Given the description of an element on the screen output the (x, y) to click on. 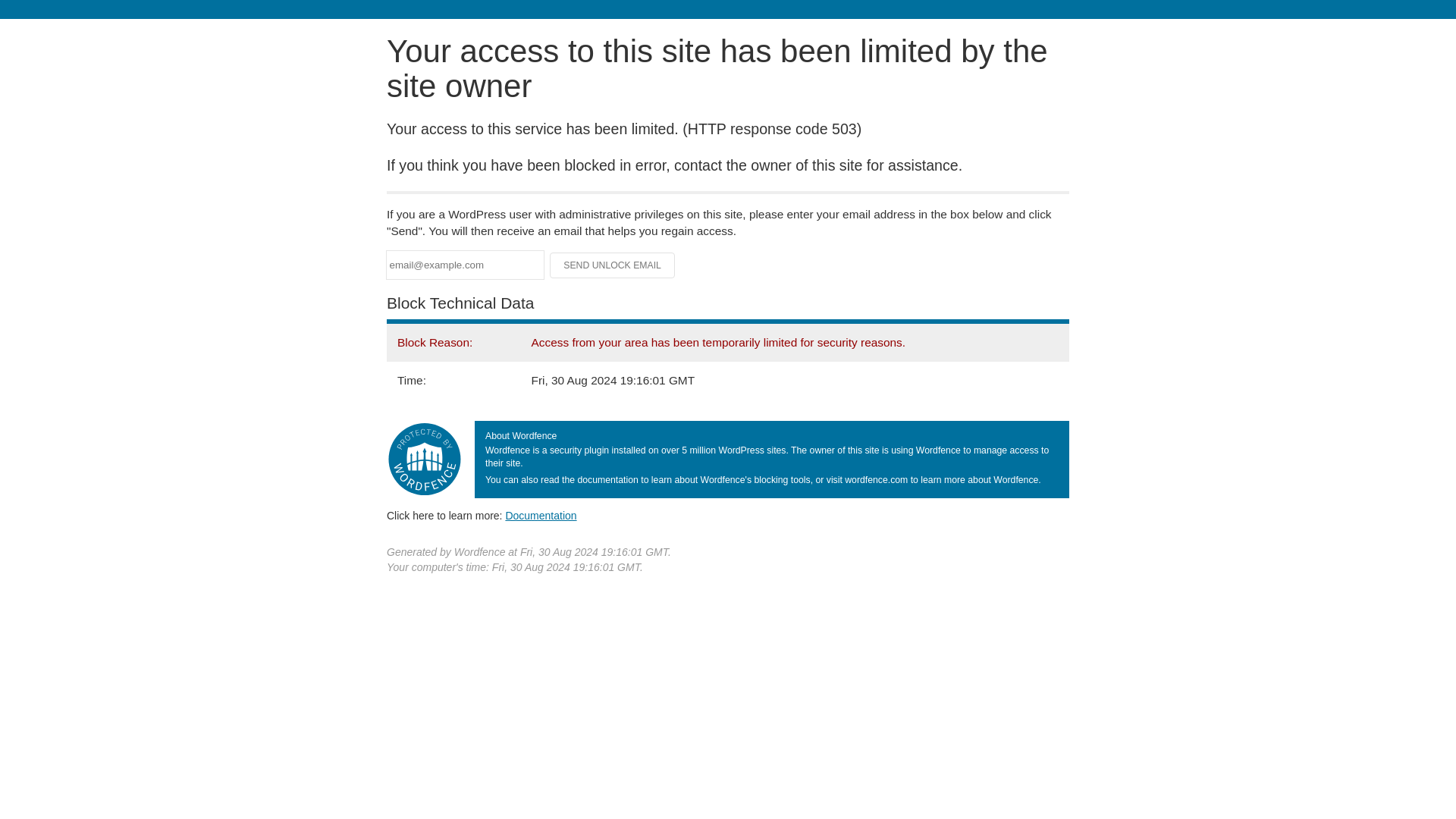
Send Unlock Email (612, 265)
Documentation (540, 515)
Send Unlock Email (612, 265)
